Given the description of an element on the screen output the (x, y) to click on. 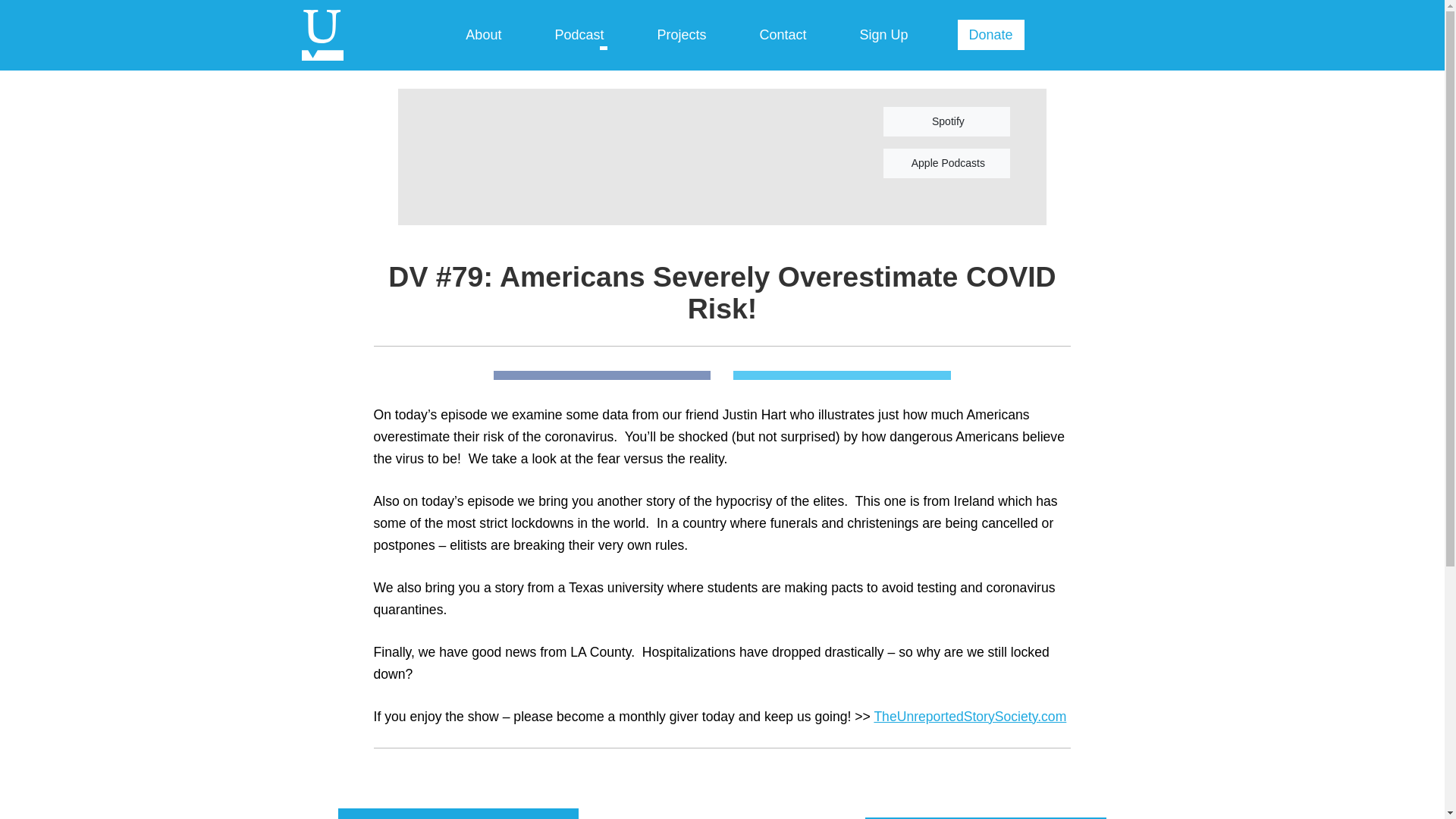
Donate (991, 34)
Projects (681, 36)
Apple Podcasts (946, 163)
Podcast (578, 36)
Sign Up (884, 36)
TheUnreportedStorySociety.com (969, 716)
About (483, 36)
Spotify (946, 121)
Contact (782, 36)
